Given the description of an element on the screen output the (x, y) to click on. 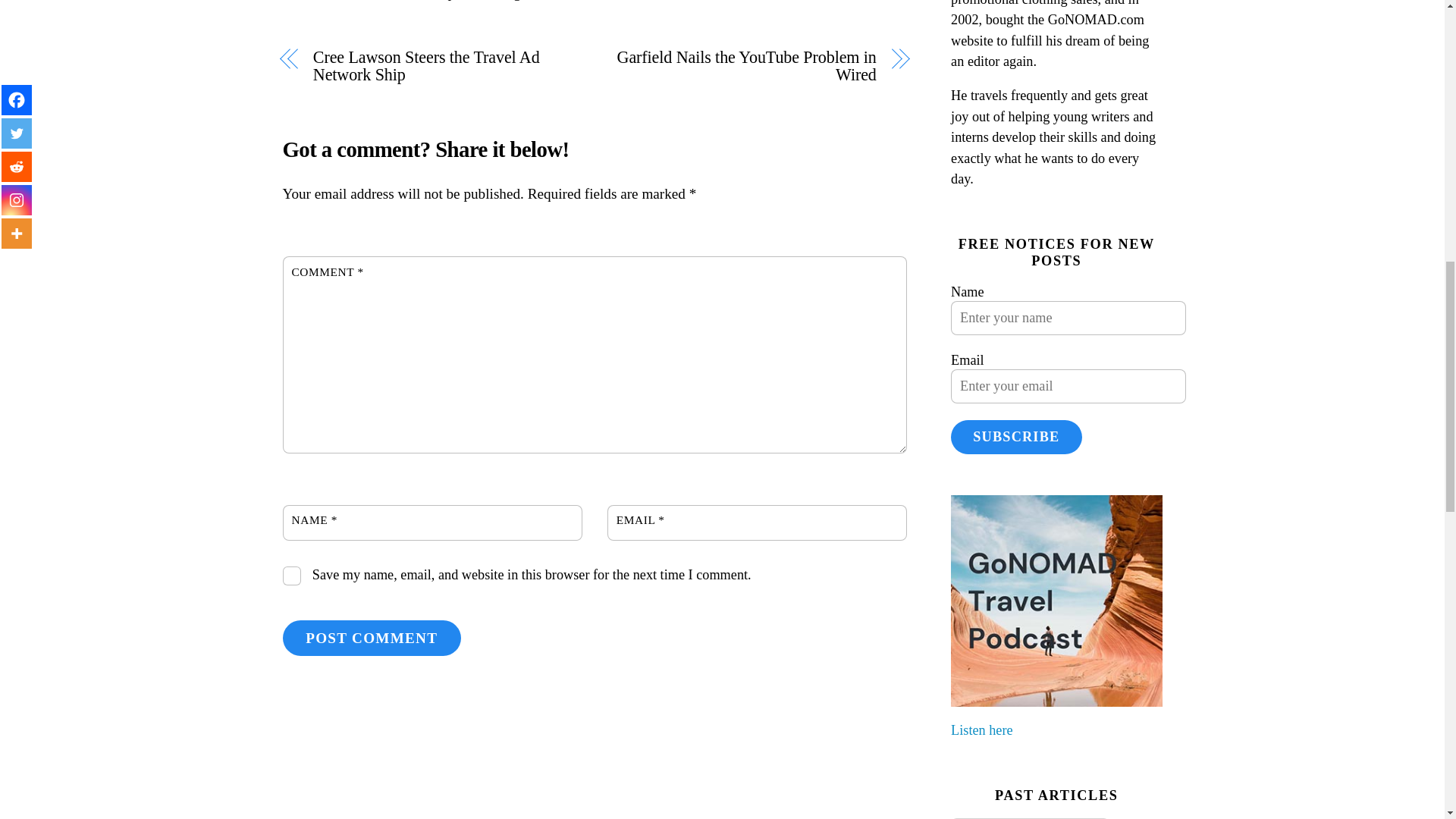
Listen here (981, 729)
Subscribe (1015, 437)
Post Comment (371, 637)
Subscribe (1015, 437)
Garfield Nails the YouTube Problem in Wired (744, 65)
Post Comment (371, 637)
yes (291, 575)
Cree Lawson Steers the Travel Ad Network Ship (444, 65)
